Given the description of an element on the screen output the (x, y) to click on. 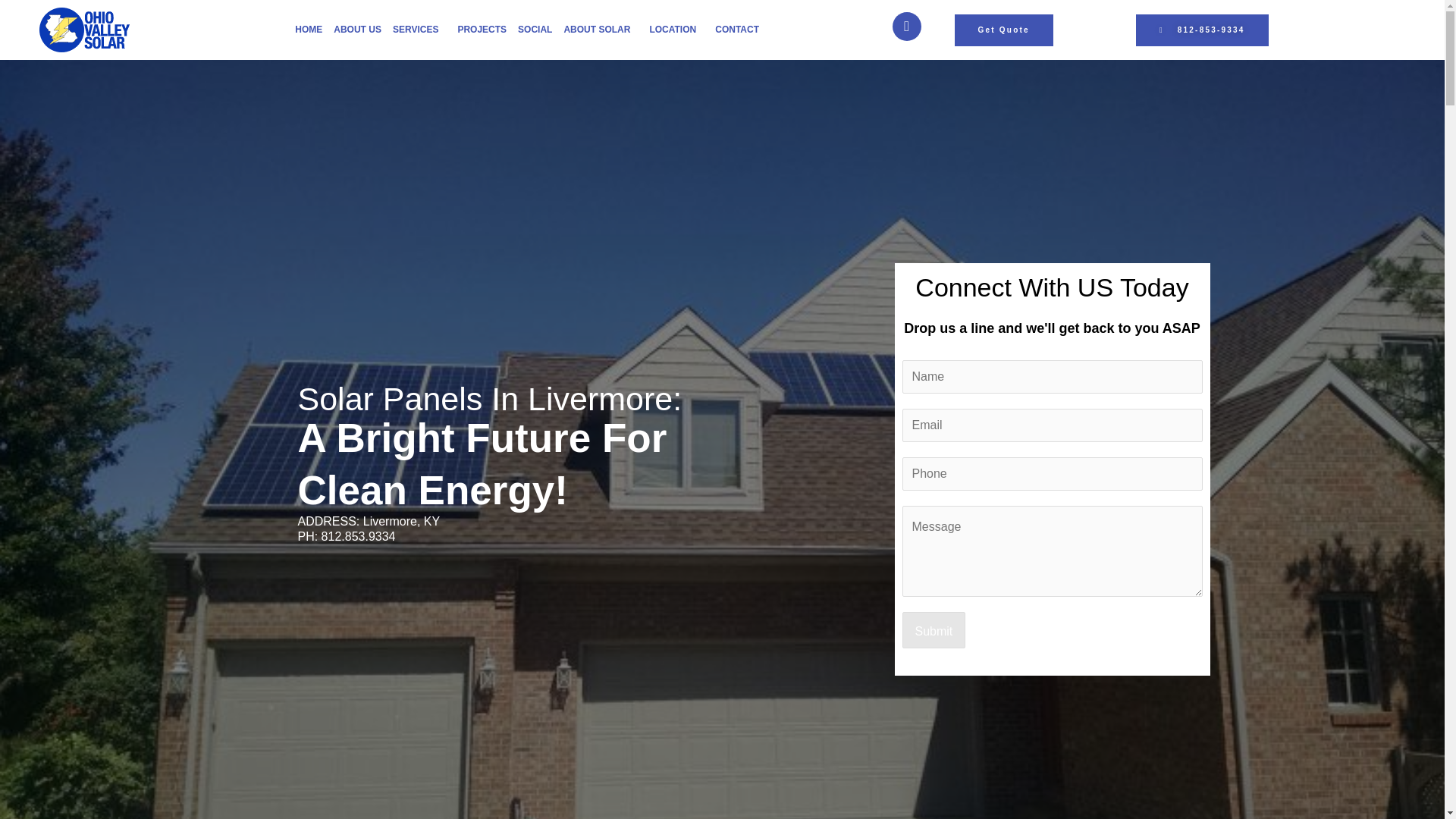
812-853-9334 (1201, 29)
SOCIAL (534, 29)
Get Quote (1003, 29)
HOME (308, 29)
